Given the description of an element on the screen output the (x, y) to click on. 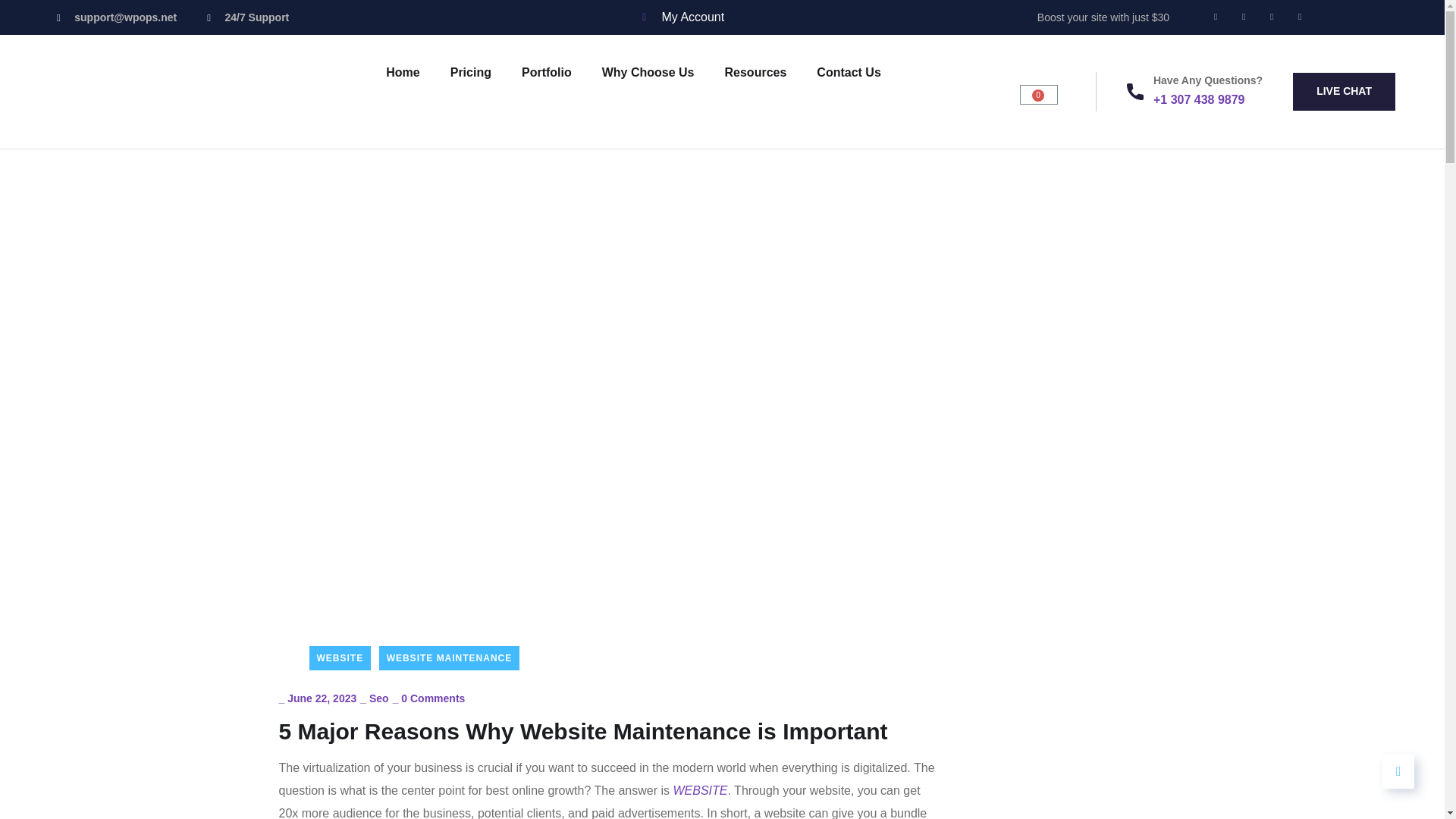
WEBSITE (339, 658)
LIVE CHAT (1343, 91)
Why Choose Us (648, 72)
My Account (681, 16)
